Given the description of an element on the screen output the (x, y) to click on. 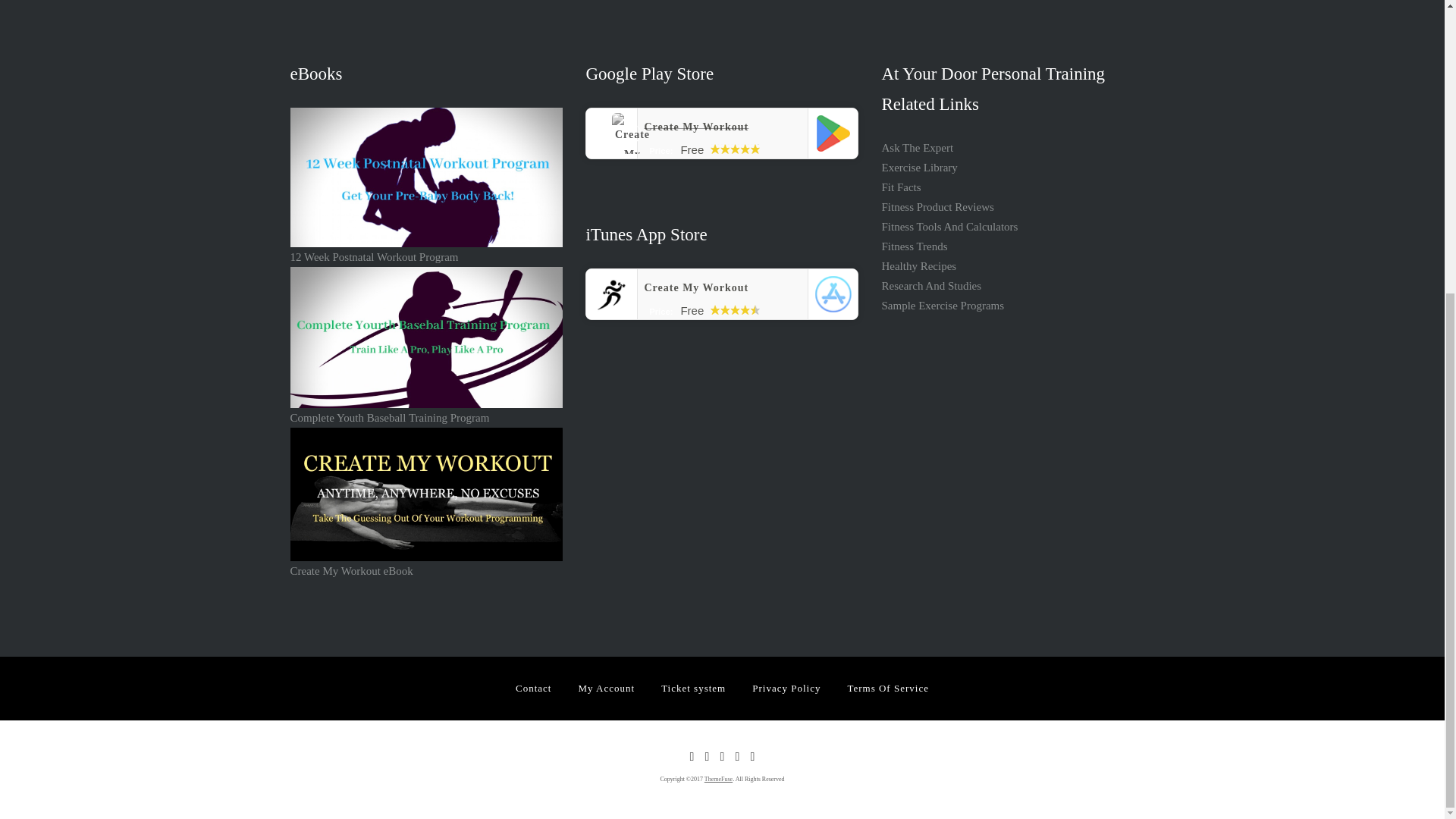
Fitness Tools And Calculators For Your Use (948, 226)
Top Rated Healthy Recipes (918, 265)
Muscle Specific Exercise Programs (942, 305)
Vast Exercise Library With Descriptions And Images (918, 167)
4.5 of 5 stars (735, 309)
Top Fitness Experts Answer Your Exercise Questions (916, 147)
